Given the description of an element on the screen output the (x, y) to click on. 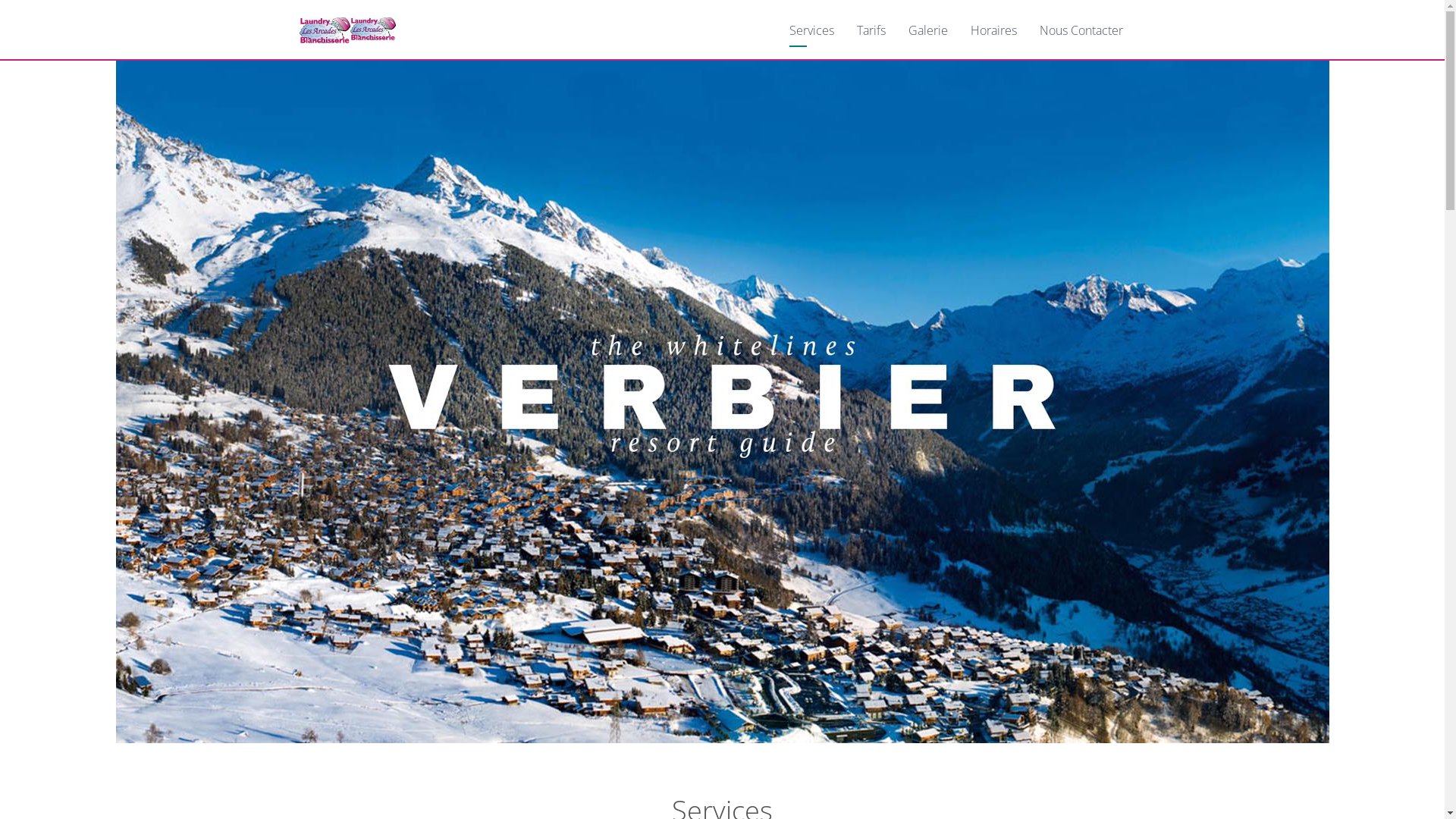
Tarifs Element type: text (870, 30)
Horaires Element type: text (993, 30)
Galerie Element type: text (927, 30)
Services Element type: text (810, 30)
Nous Contacter Element type: text (1080, 30)
